Given the description of an element on the screen output the (x, y) to click on. 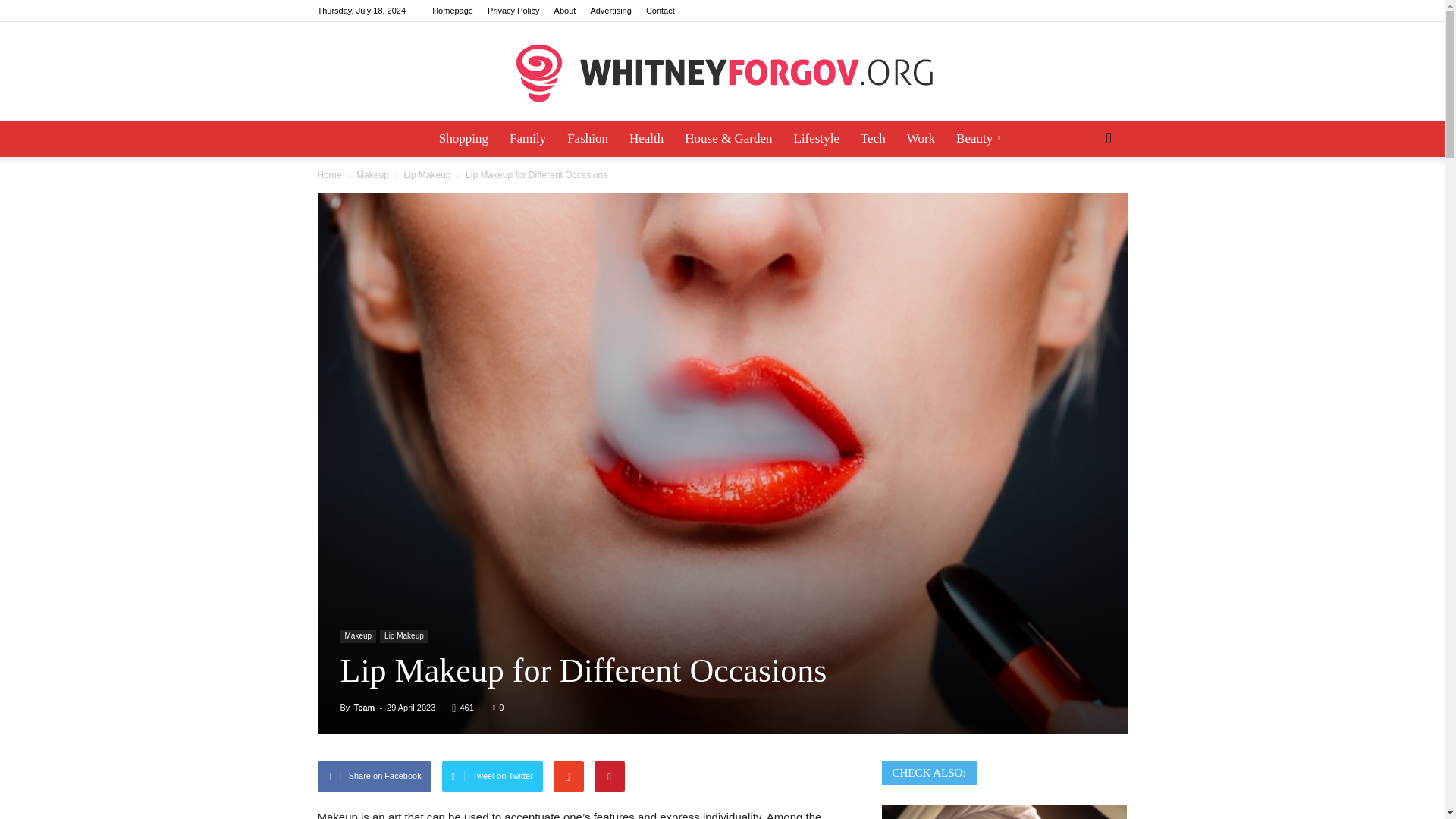
Lifestyle (815, 138)
Advertising (609, 10)
View all posts in Makeup (373, 174)
Health (646, 138)
Privacy Policy (512, 10)
Shopping (463, 138)
Homepage (452, 10)
About (565, 10)
whitneyforgov (722, 71)
Family (527, 138)
View all posts in Lip Makeup (427, 174)
Work (920, 138)
Tech (873, 138)
